Given the description of an element on the screen output the (x, y) to click on. 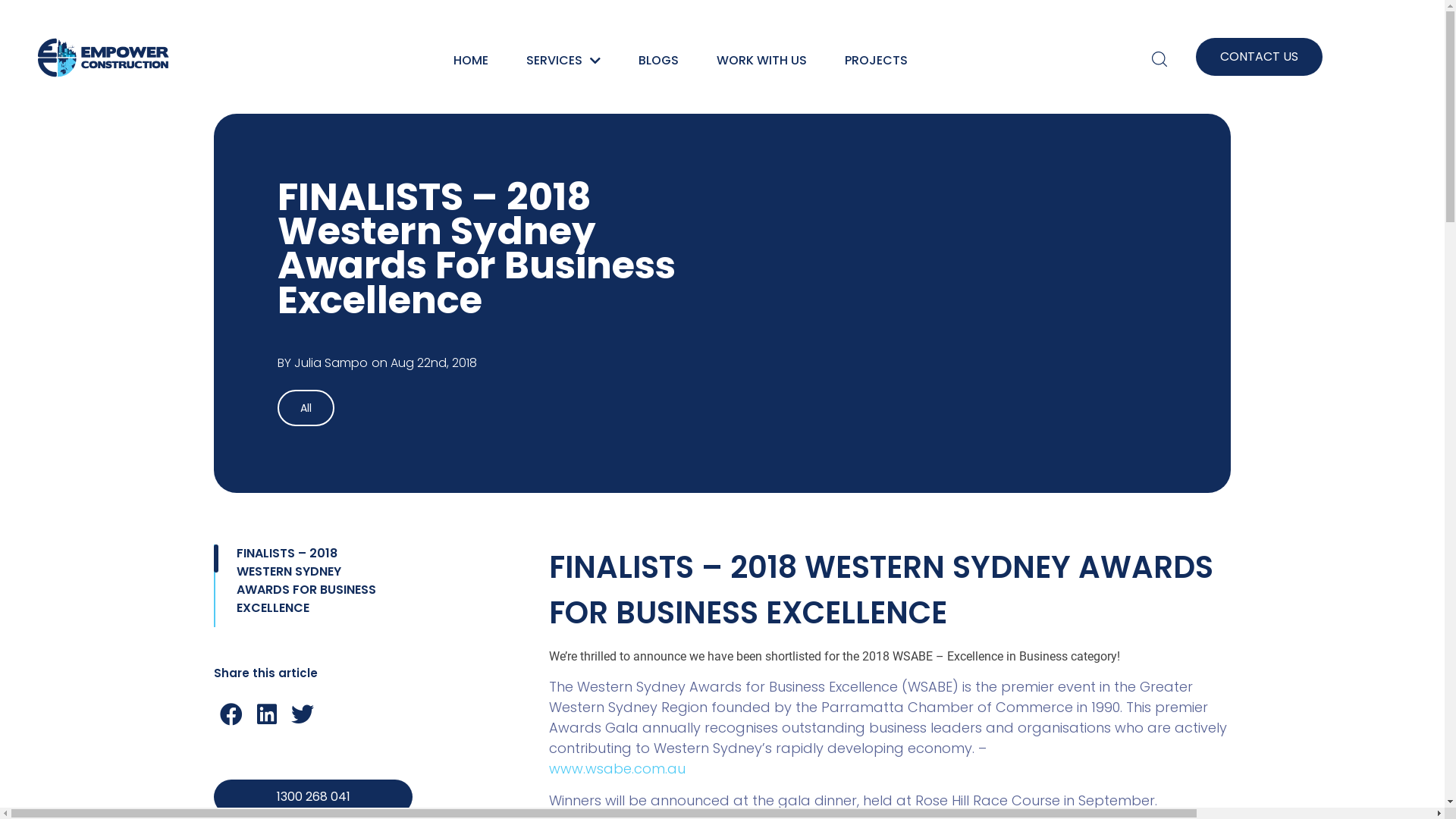
BY Julia Sampo Element type: text (322, 362)
WORK WITH US Element type: text (761, 58)
BLOGS Element type: text (658, 58)
www.wsabe.com.au Element type: text (617, 768)
on Aug 22nd, 2018 Element type: text (423, 362)
1300 268 041 Element type: text (312, 796)
All Element type: text (305, 407)
PROJECTS Element type: text (875, 58)
SERVICES Element type: text (563, 58)
CONTACT US Element type: text (1258, 56)
HOME Element type: text (470, 58)
